Given the description of an element on the screen output the (x, y) to click on. 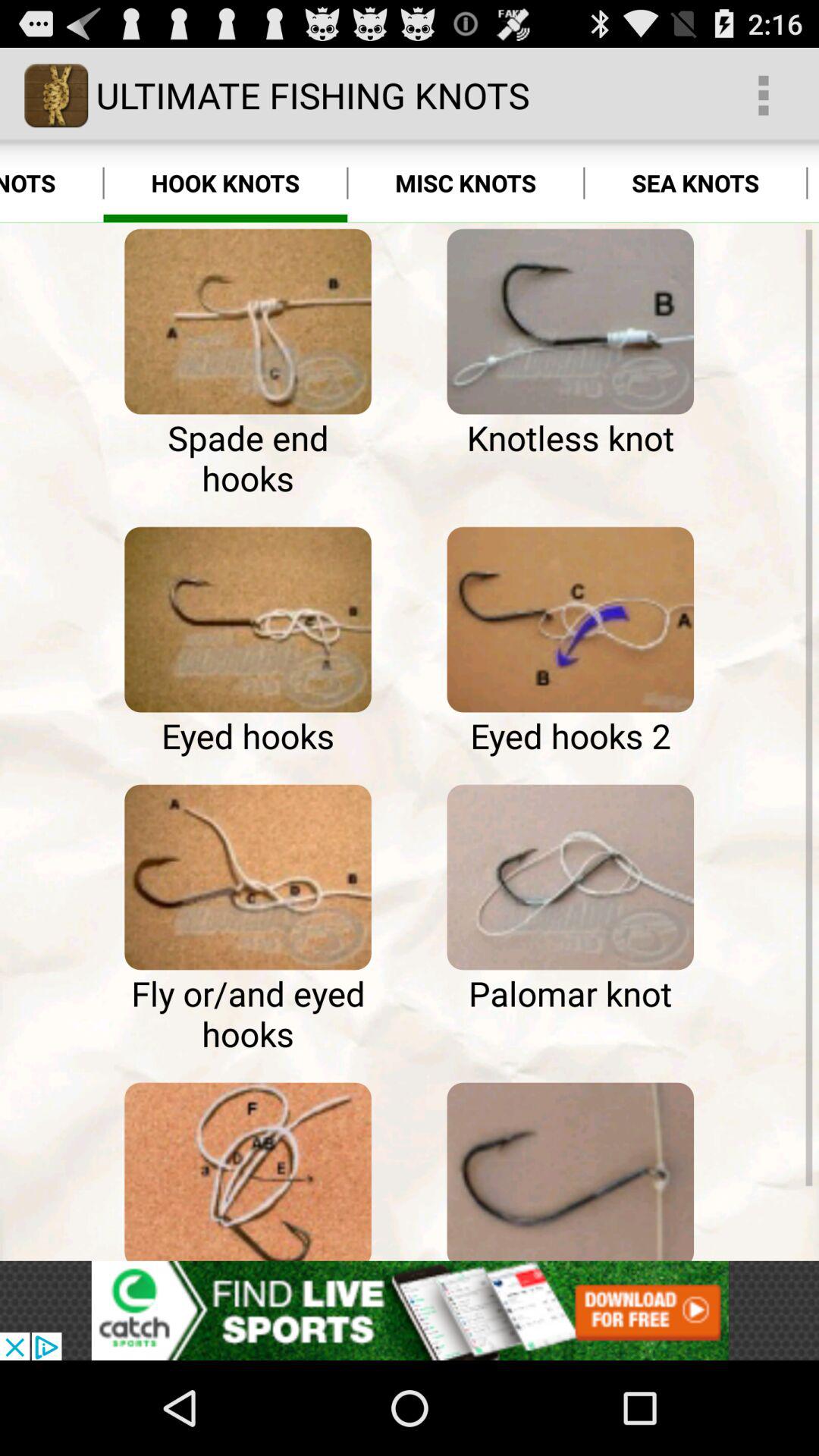
see the hook (570, 1168)
